Given the description of an element on the screen output the (x, y) to click on. 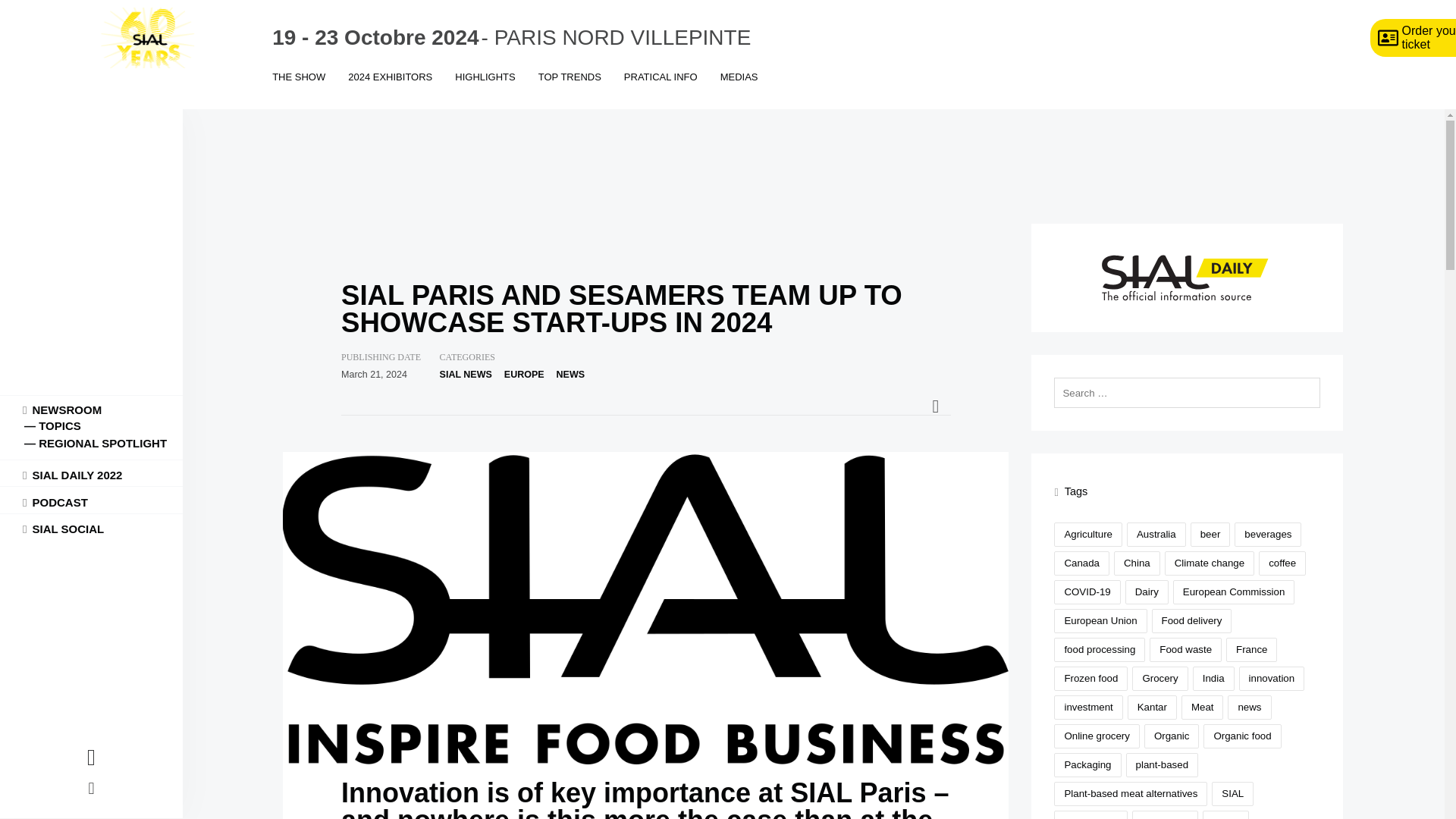
2024 EXHIBITORS (390, 87)
HIGHLIGHTS (484, 87)
PRATICAL INFO (660, 87)
THE SHOW (298, 87)
MEDIAS (739, 87)
TOP TRENDS (569, 87)
List of 2024 exhibitors (390, 87)
